Given the description of an element on the screen output the (x, y) to click on. 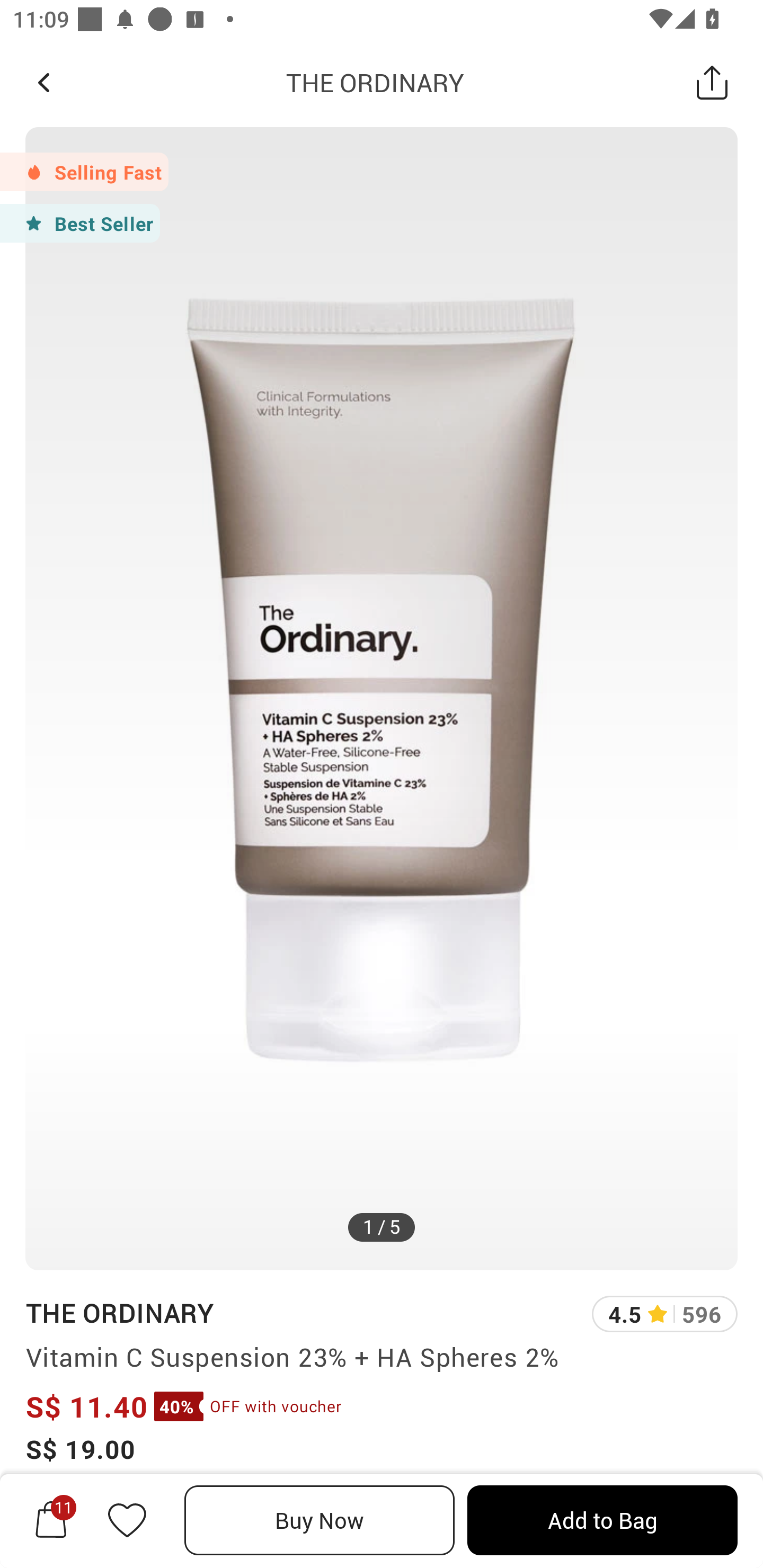
THE ORDINARY (375, 82)
Share this Product (711, 82)
THE ORDINARY (119, 1312)
4.5 596 (664, 1313)
Buy Now (319, 1519)
Add to Bag (601, 1519)
11 (50, 1520)
